Given the description of an element on the screen output the (x, y) to click on. 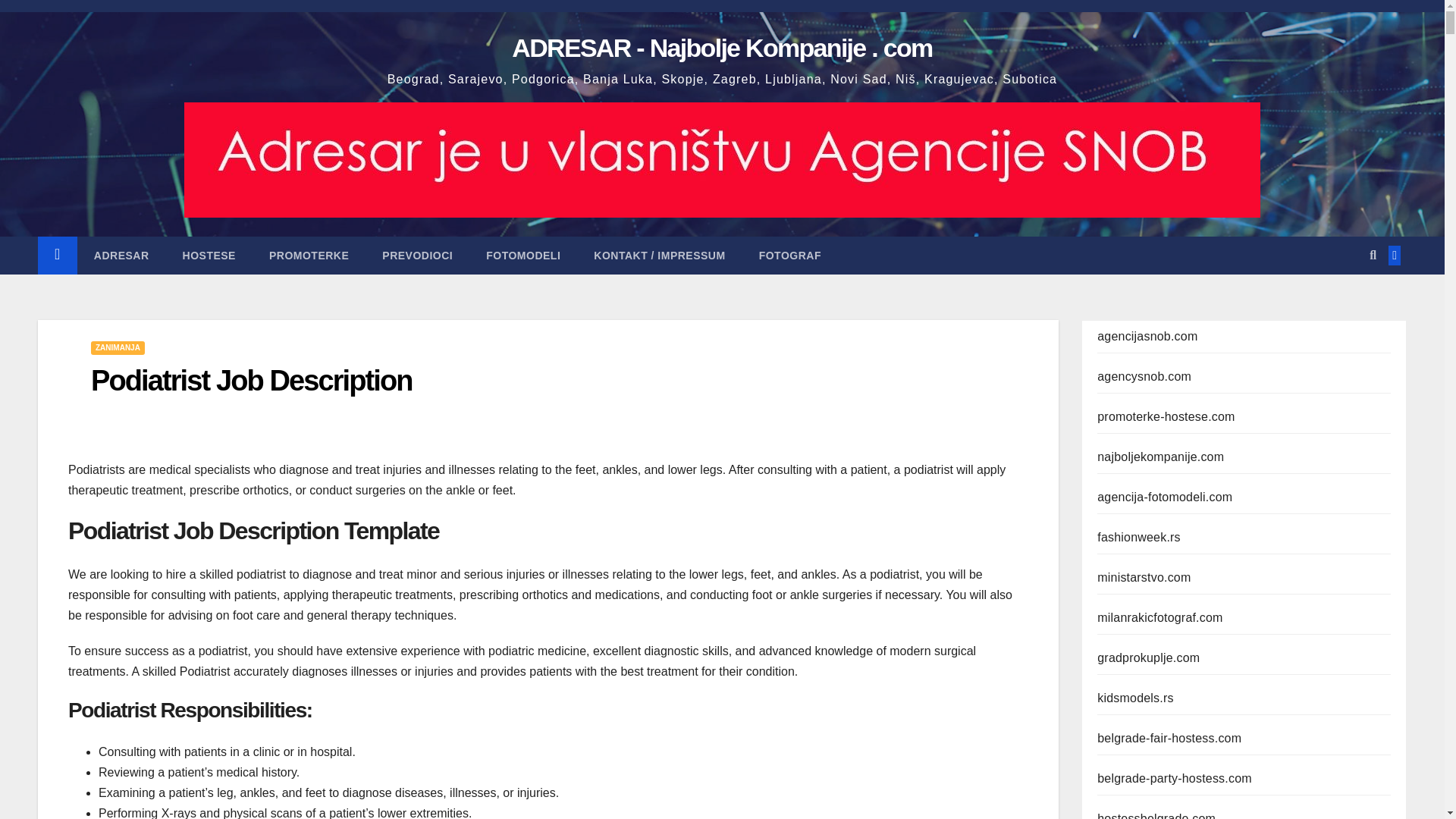
ministarstvo.com (1144, 576)
FOTOMODELI (522, 255)
milanrakicfotograf.com (1160, 617)
najboljekompanije.com (1160, 456)
agencysnob.com (1144, 376)
hostessbelgrade.com (1156, 815)
belgrade-fair-hostess.com (1169, 738)
HOSTESE (208, 255)
FOTOGRAF (790, 255)
kidsmodels.rs (1135, 697)
